Given the description of an element on the screen output the (x, y) to click on. 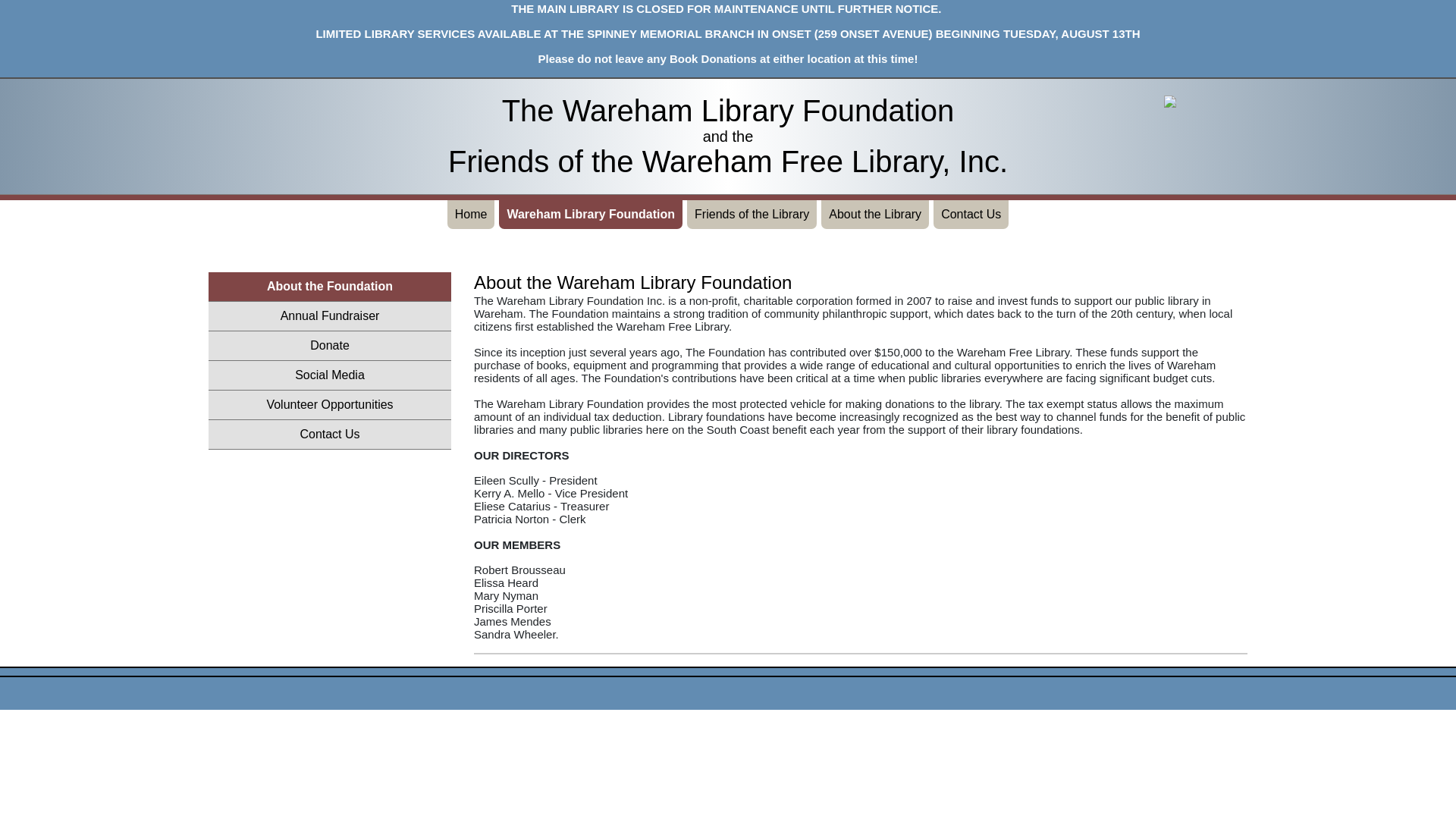
Wareham Library Foundation (590, 214)
About the Library (874, 214)
Home (470, 214)
Friends of the Library (751, 214)
Contact Us (971, 214)
